Given the description of an element on the screen output the (x, y) to click on. 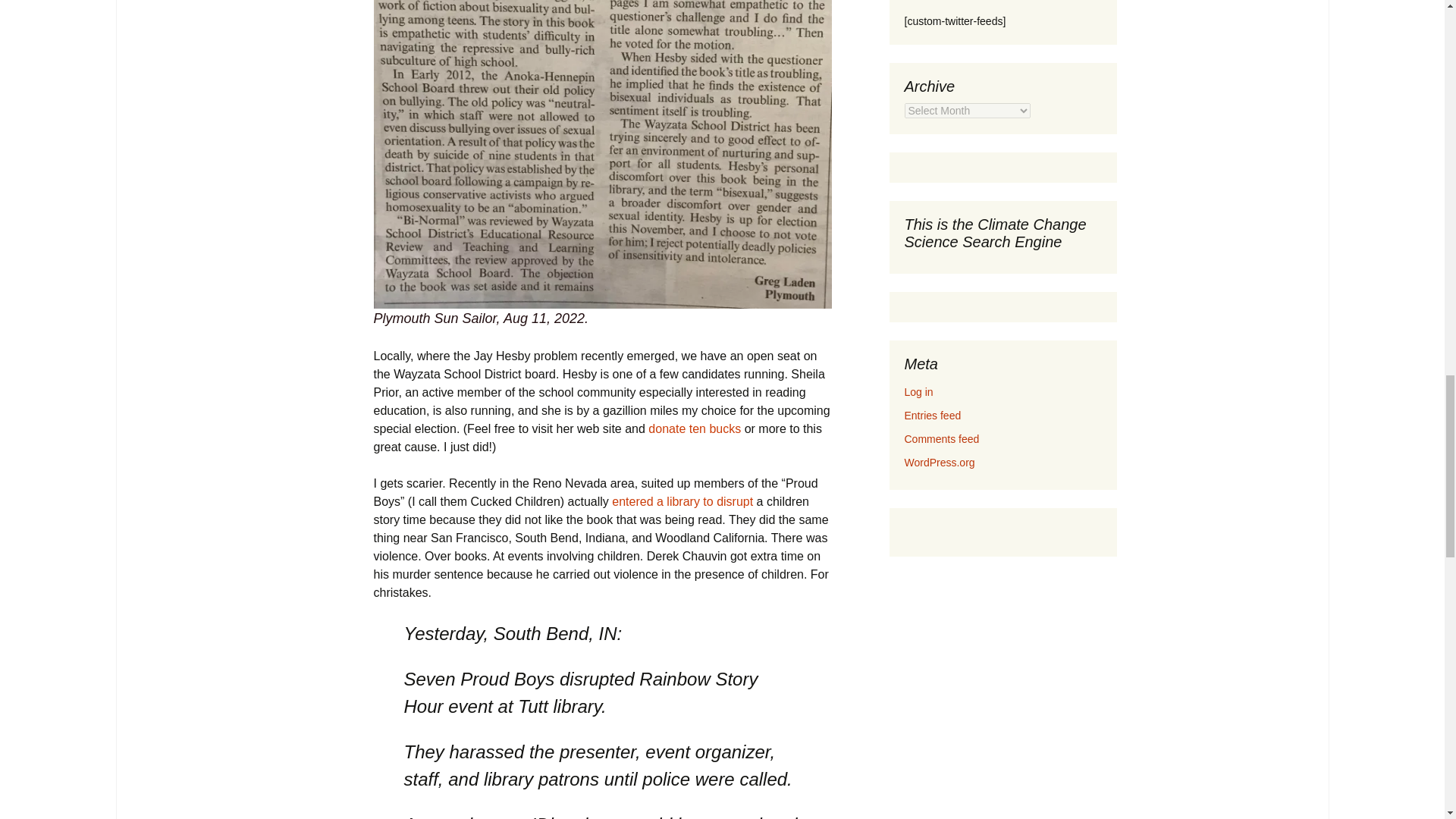
donate ten bucks (694, 428)
entered a library to disrupt (681, 501)
